Given the description of an element on the screen output the (x, y) to click on. 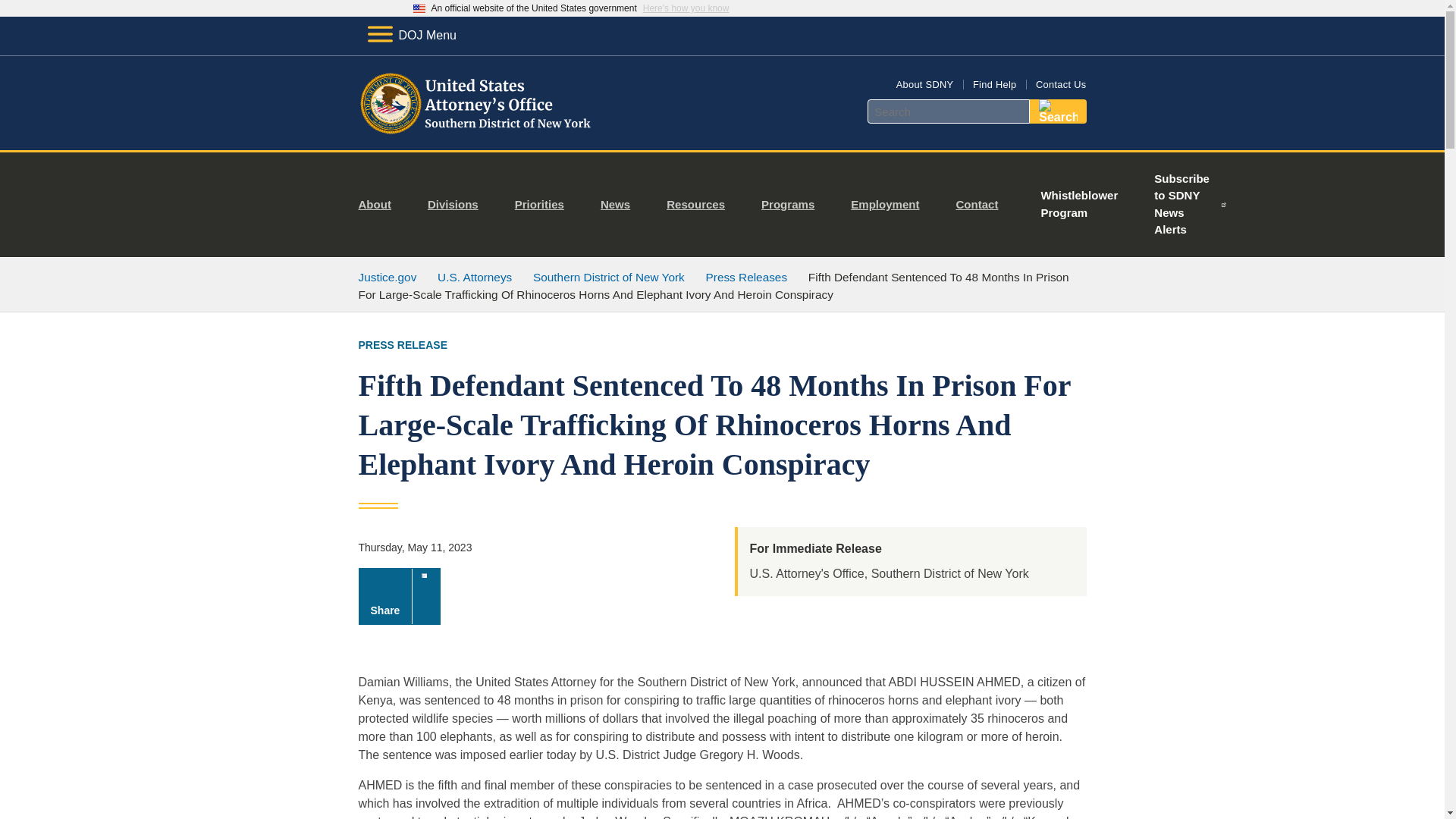
Subscribe to SDNY News Alerts (1191, 204)
Employment (890, 204)
Share (398, 596)
Here's how you know (686, 8)
Home (481, 132)
Press Releases (746, 277)
Resources (701, 204)
DOJ Menu (411, 35)
Find Help (994, 84)
Contact Us (1060, 84)
